Given the description of an element on the screen output the (x, y) to click on. 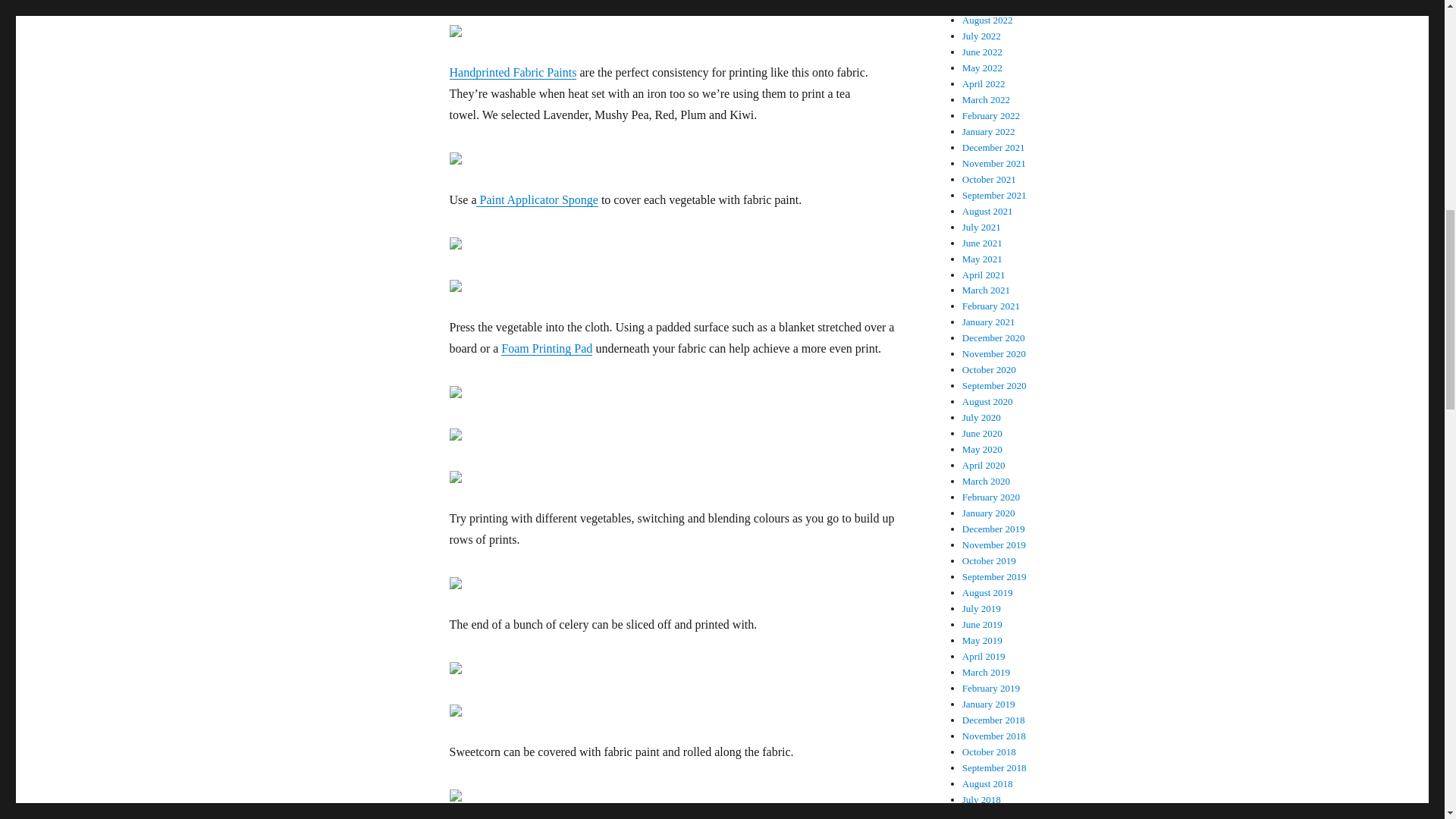
September 2022 (994, 4)
Foam Printing Pad (546, 348)
April 2022 (984, 83)
August 2022 (987, 19)
Paint Applicator Sponge (536, 199)
March 2022 (986, 99)
May 2022 (982, 67)
July 2022 (981, 35)
June 2022 (982, 51)
February 2022 (991, 115)
